Given the description of an element on the screen output the (x, y) to click on. 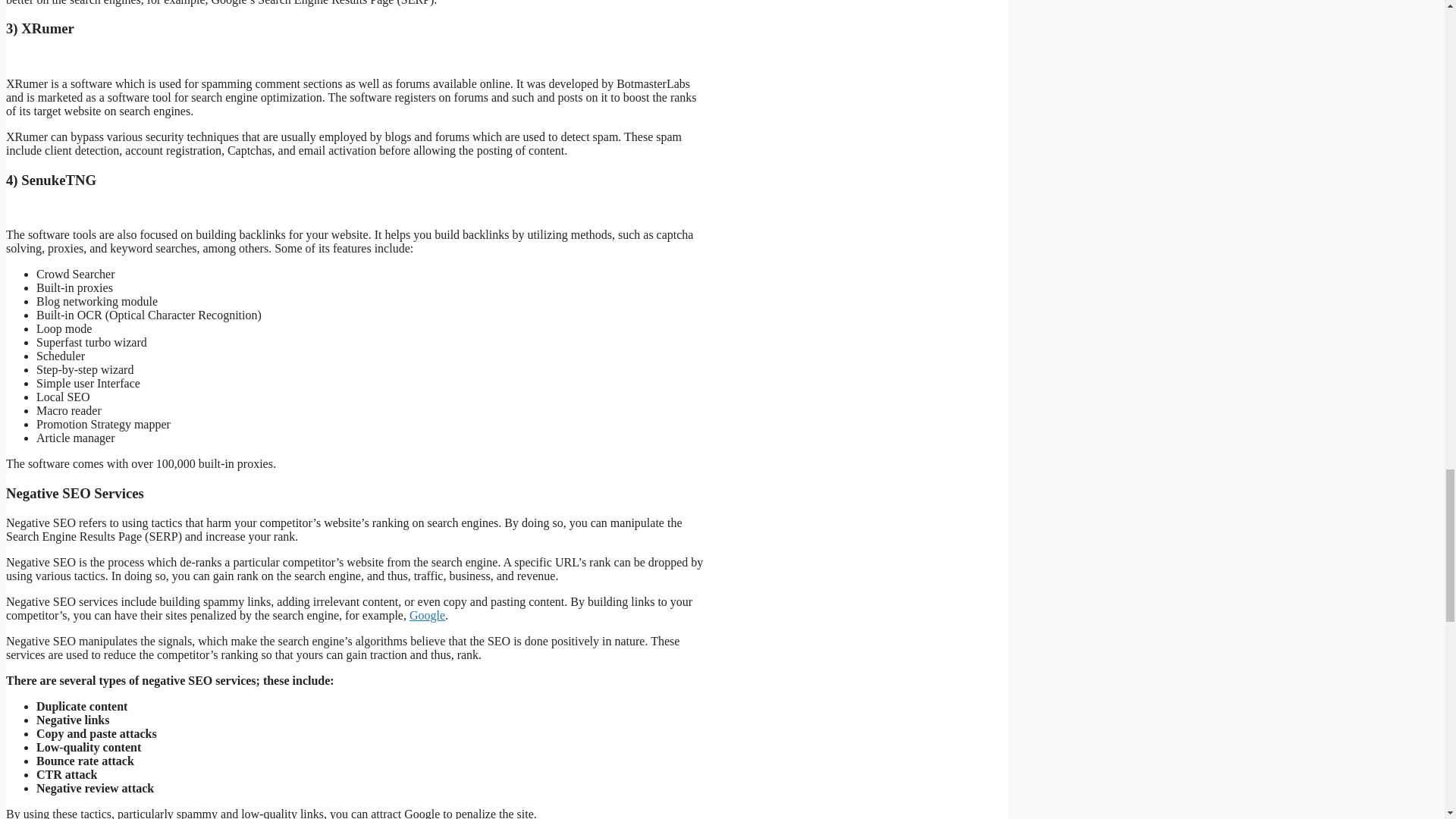
Google (427, 615)
